Given the description of an element on the screen output the (x, y) to click on. 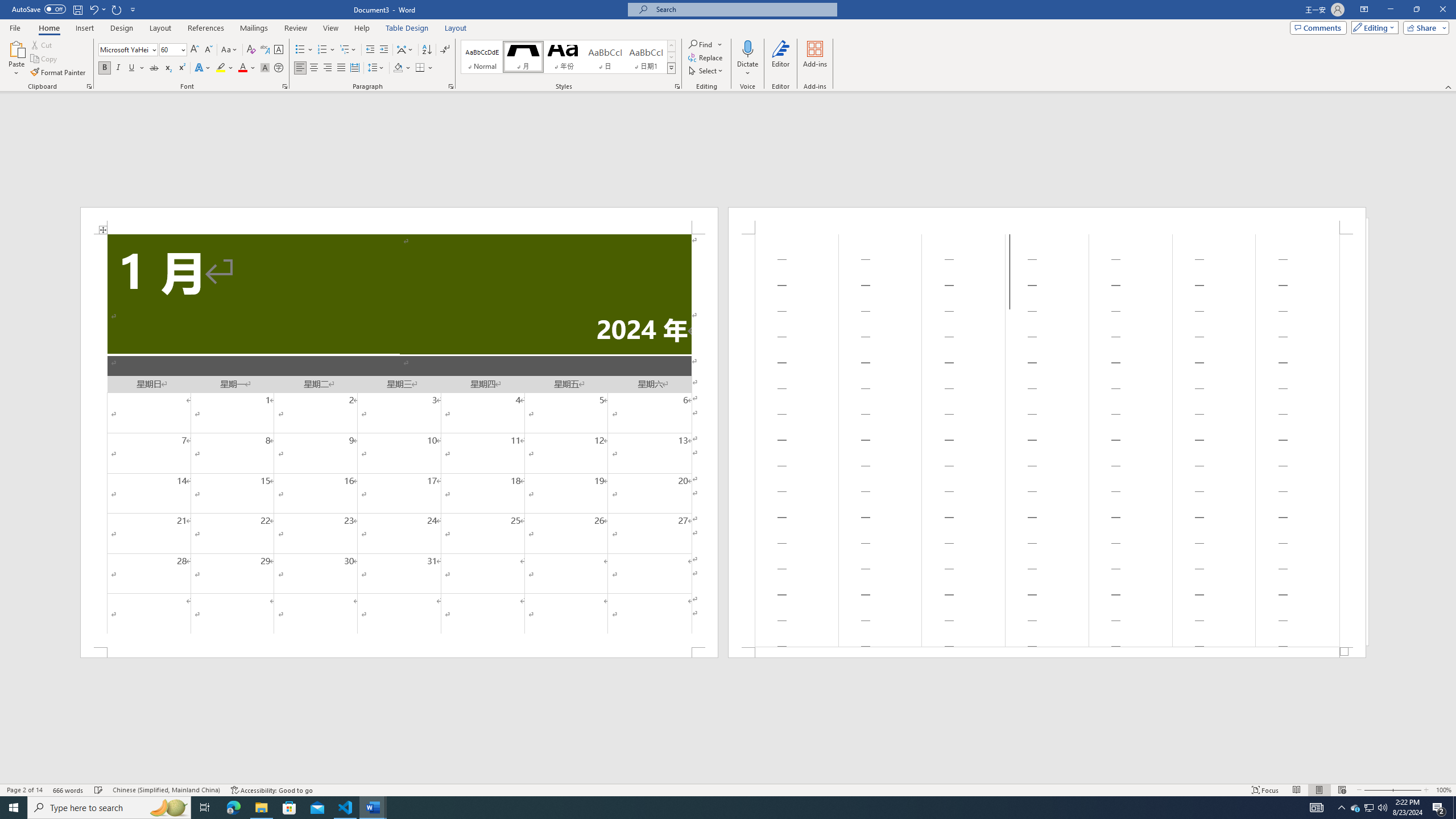
Page 2 content (1046, 440)
Font Color RGB(255, 0, 0) (241, 67)
